Given the description of an element on the screen output the (x, y) to click on. 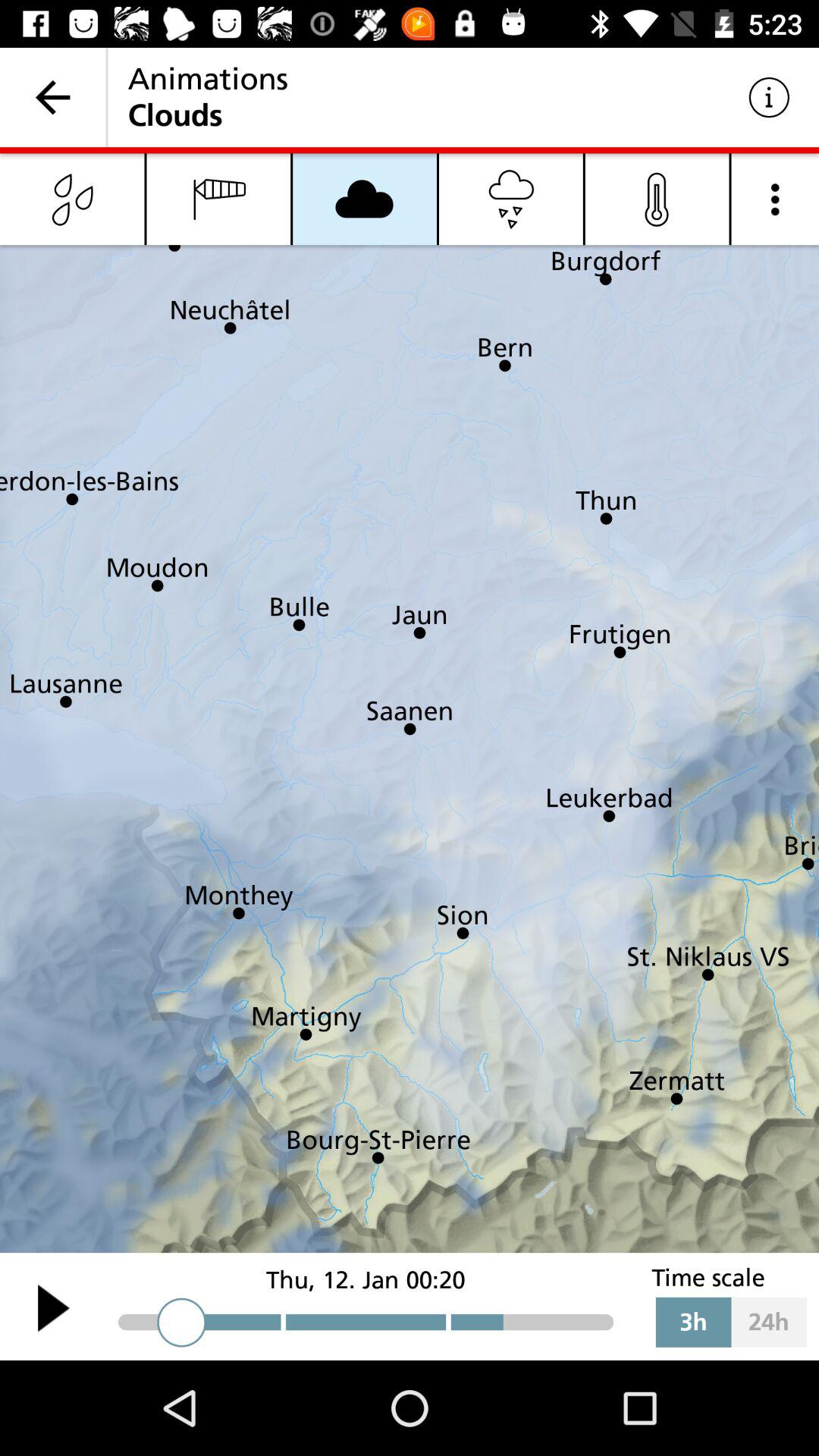
go to playing audio (53, 1307)
